Given the description of an element on the screen output the (x, y) to click on. 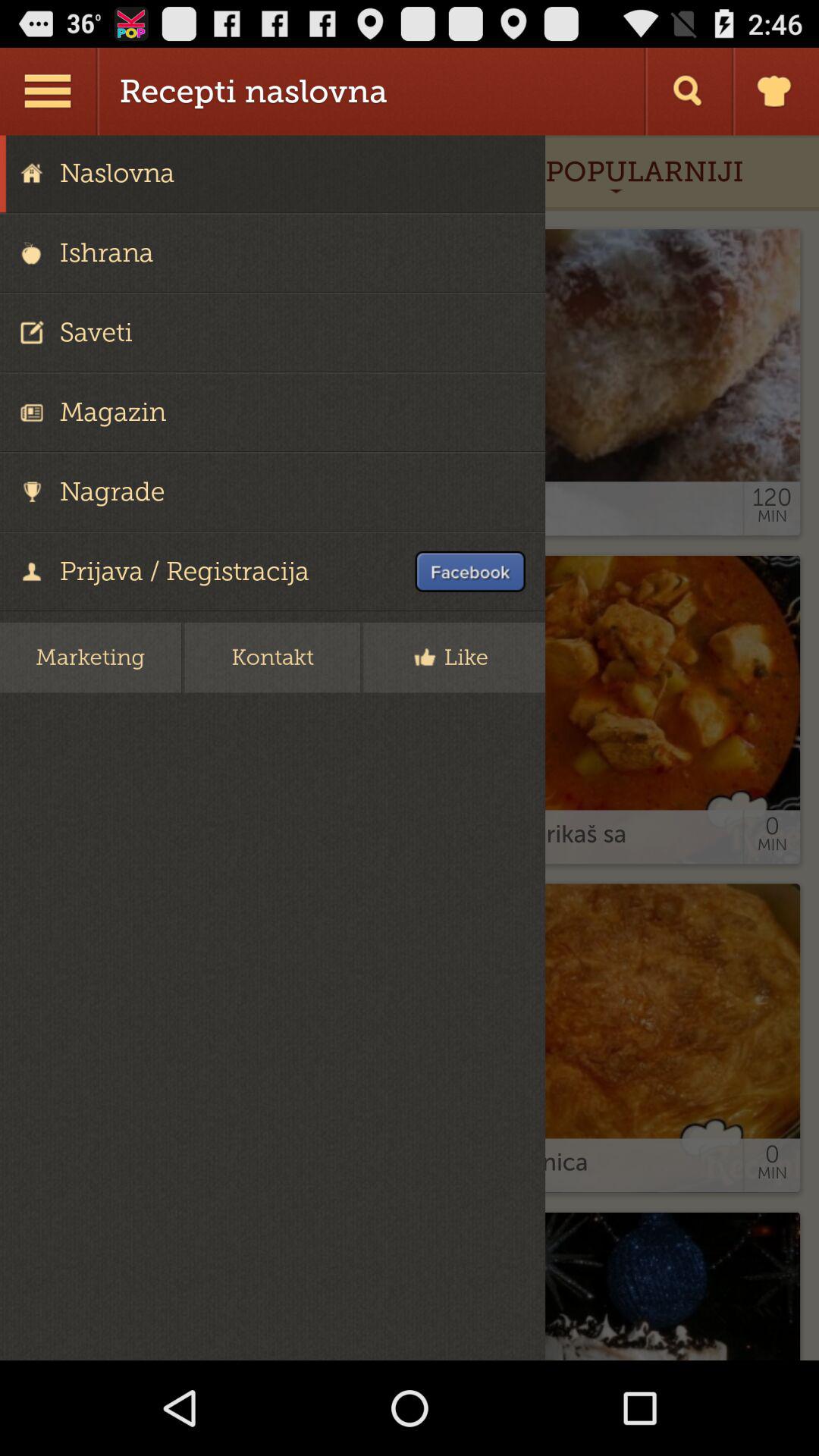
menu option (49, 91)
